Given the description of an element on the screen output the (x, y) to click on. 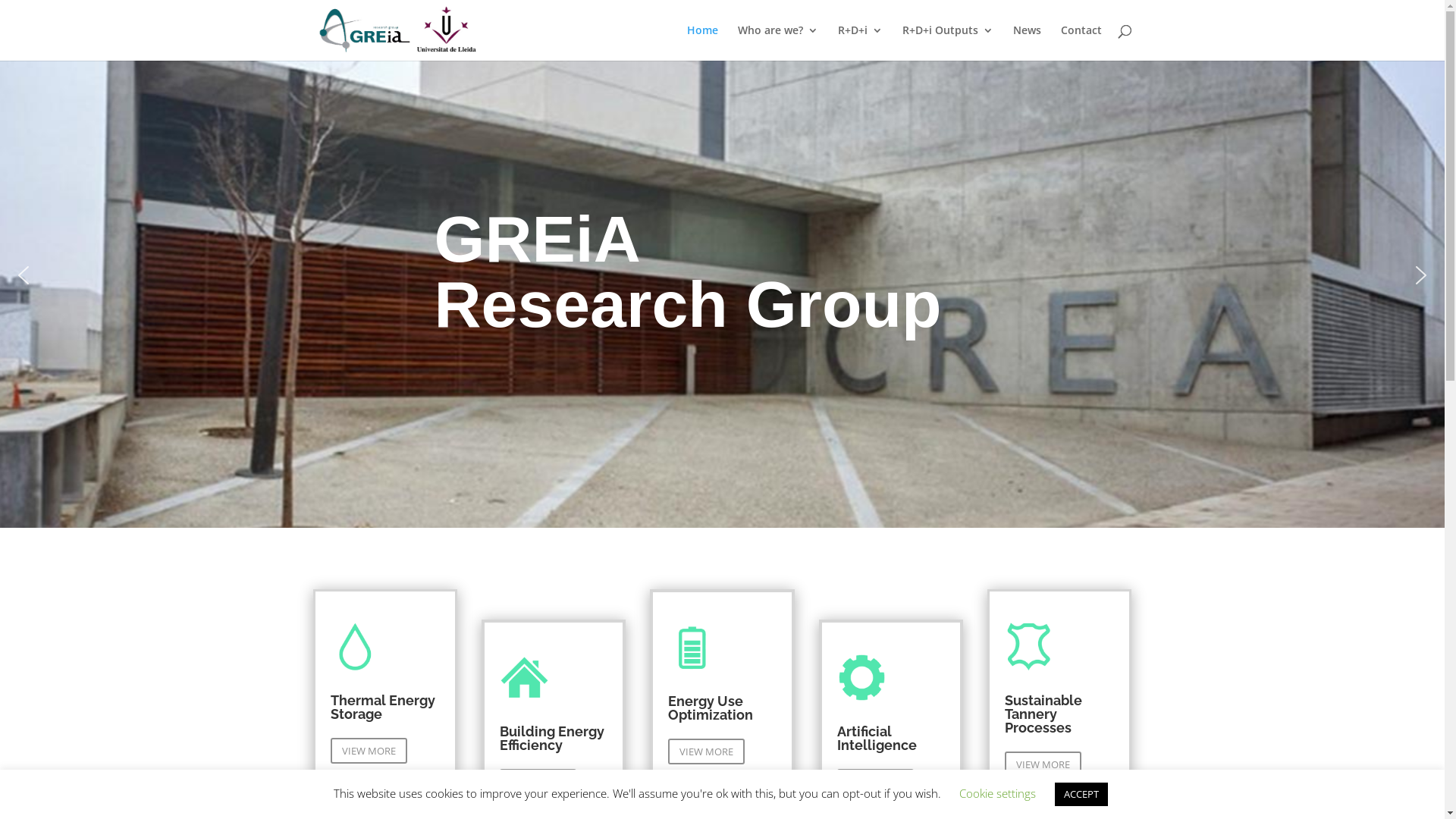
News Element type: text (1027, 42)
ACCEPT Element type: text (1080, 794)
Home Element type: text (702, 42)
Cookie settings Element type: text (996, 792)
R+D+i Element type: text (859, 42)
VIEW MORE Element type: text (537, 781)
Sustainable Tannery Processes Element type: text (1043, 713)
VIEW MORE Element type: text (1042, 764)
VIEW MORE Element type: text (706, 751)
Who are we? Element type: text (777, 42)
VIEW MORE Element type: text (368, 750)
R+D+i Outputs Element type: text (947, 42)
VIEW MORE Element type: text (875, 781)
Contact Element type: text (1080, 42)
